Given the description of an element on the screen output the (x, y) to click on. 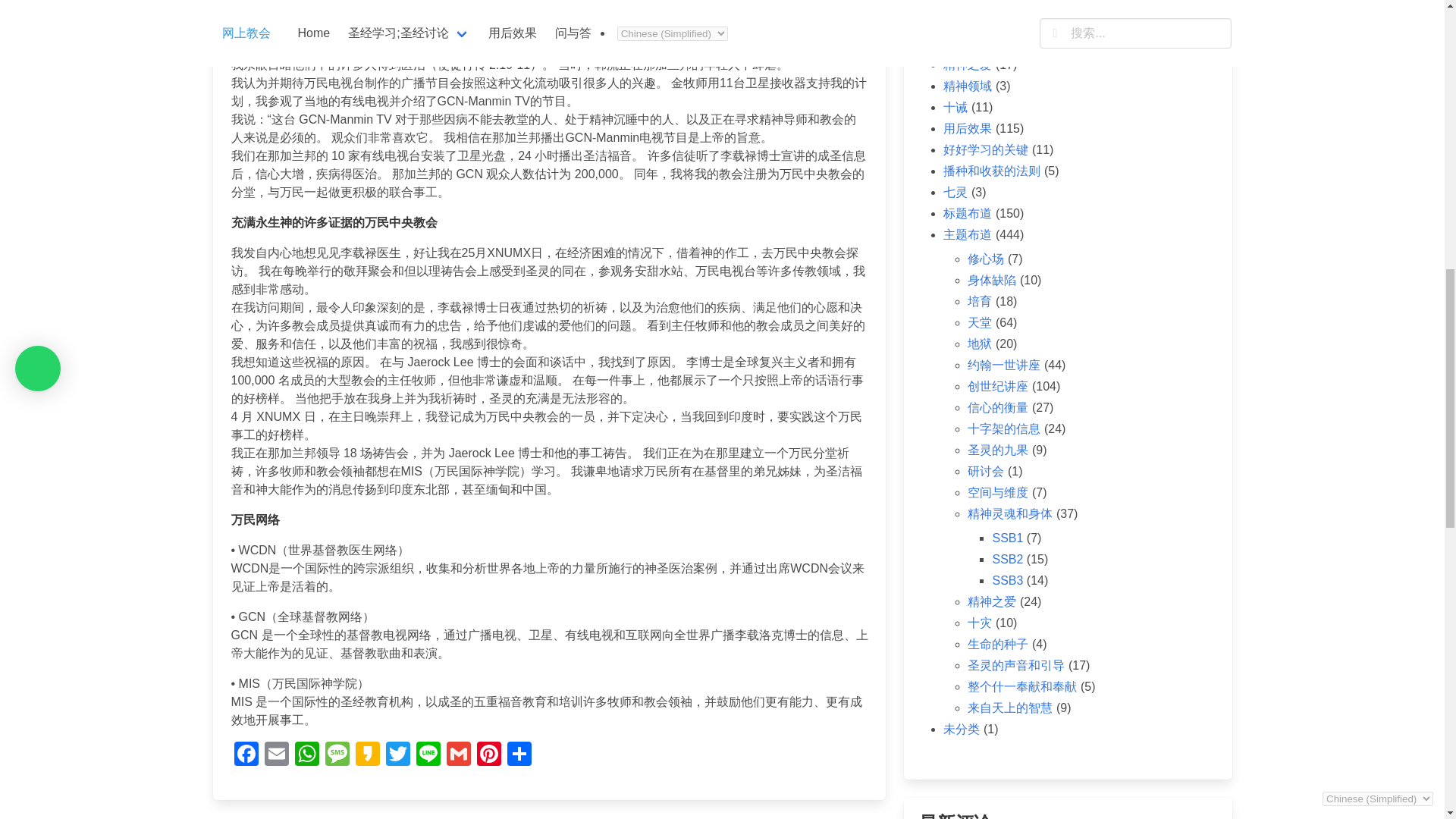
Email (275, 755)
Line (427, 755)
Gmail (457, 755)
Facebook (245, 755)
Kakao (366, 755)
WhatsApp (306, 755)
Message (336, 755)
Pinterest (488, 755)
Twitter (396, 755)
